Given the description of an element on the screen output the (x, y) to click on. 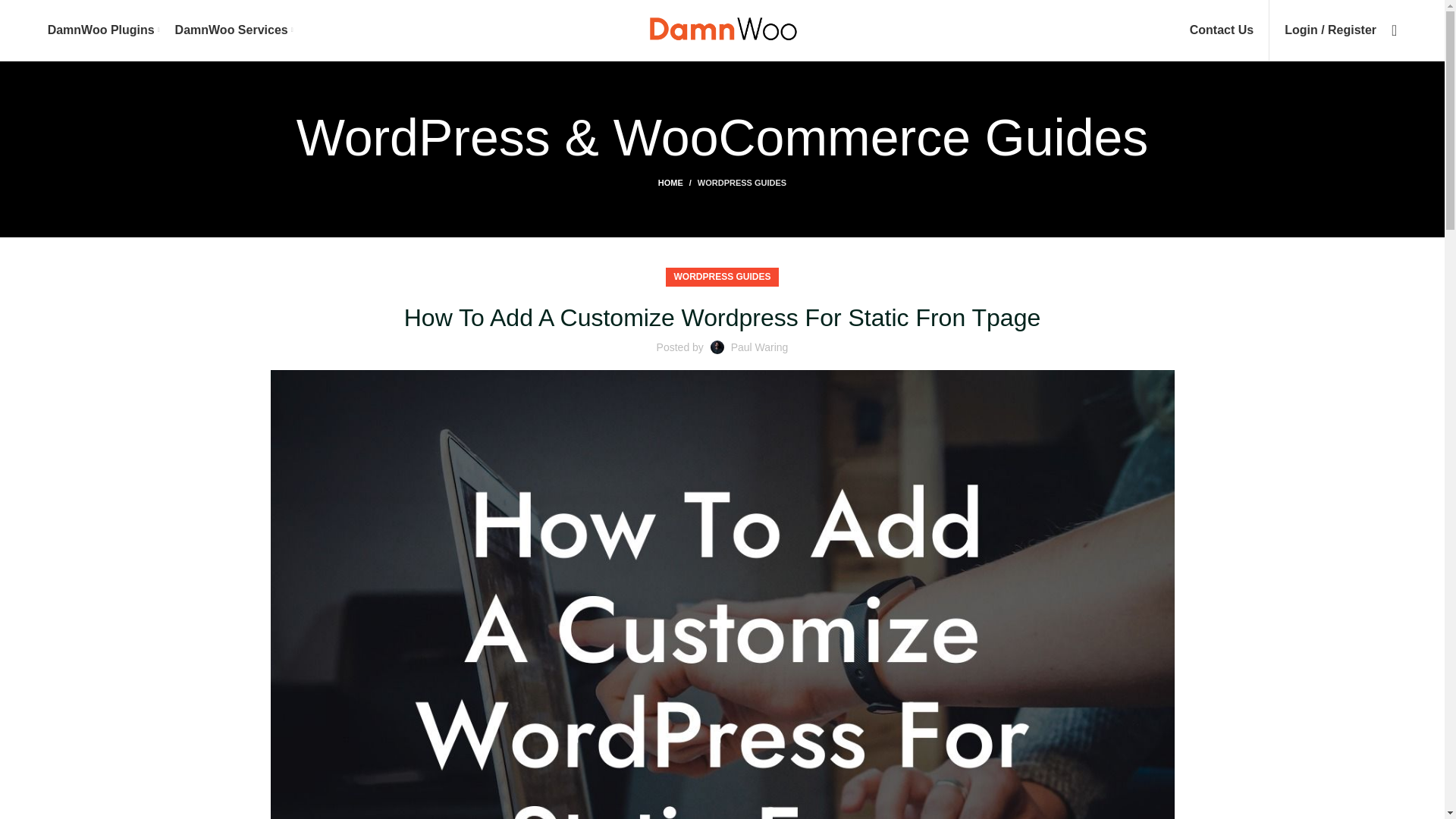
HOME (677, 182)
DamnWoo Plugins (104, 30)
Paul Waring (759, 346)
WORDPRESS GUIDES (721, 276)
Contact Us (1221, 30)
My account (1330, 30)
DamnWoo Services (234, 30)
WORDPRESS GUIDES (741, 182)
